Given the description of an element on the screen output the (x, y) to click on. 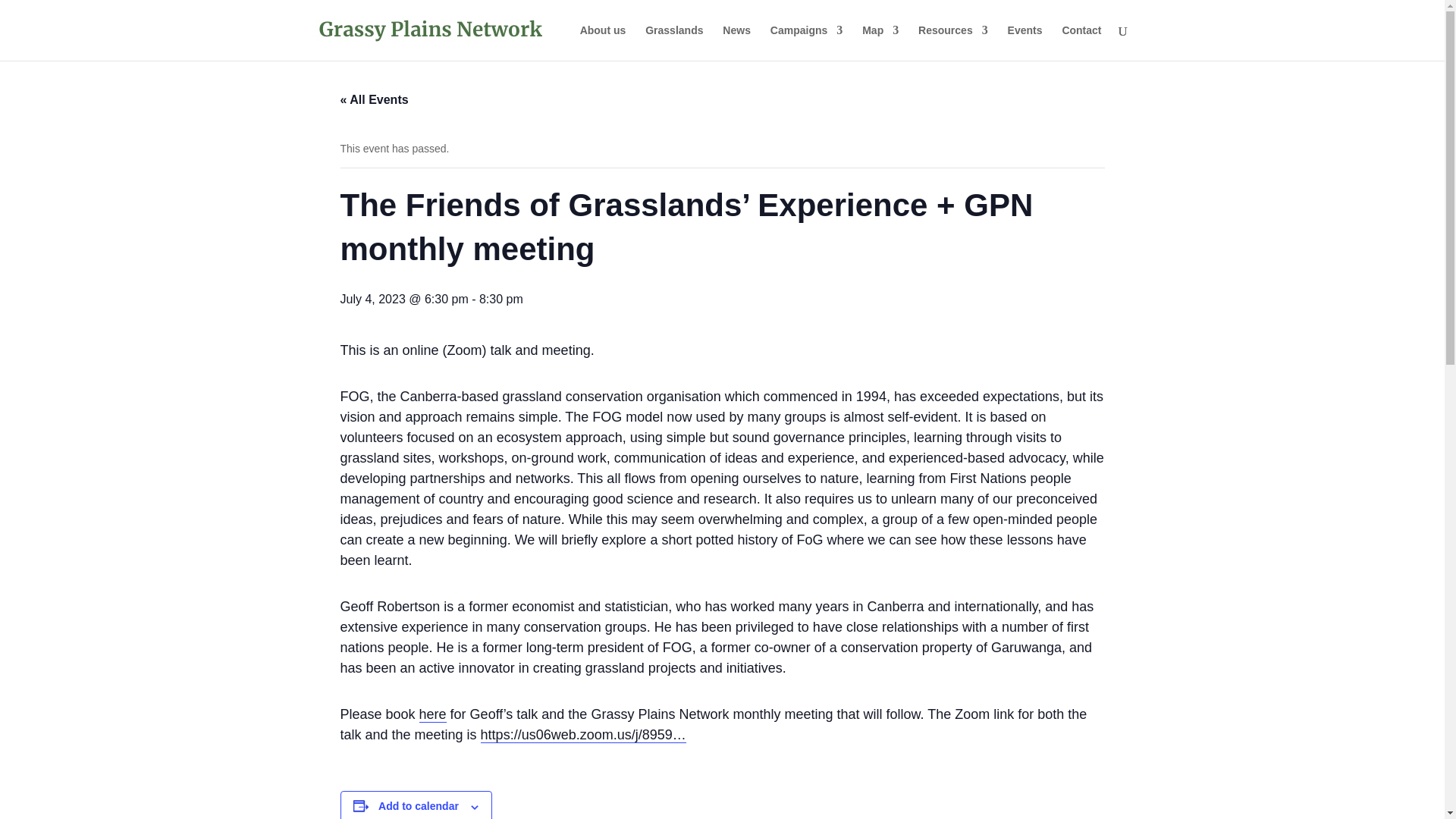
Resources (953, 42)
About us (602, 42)
Grasslands (674, 42)
Campaigns (806, 42)
Map (879, 42)
